Given the description of an element on the screen output the (x, y) to click on. 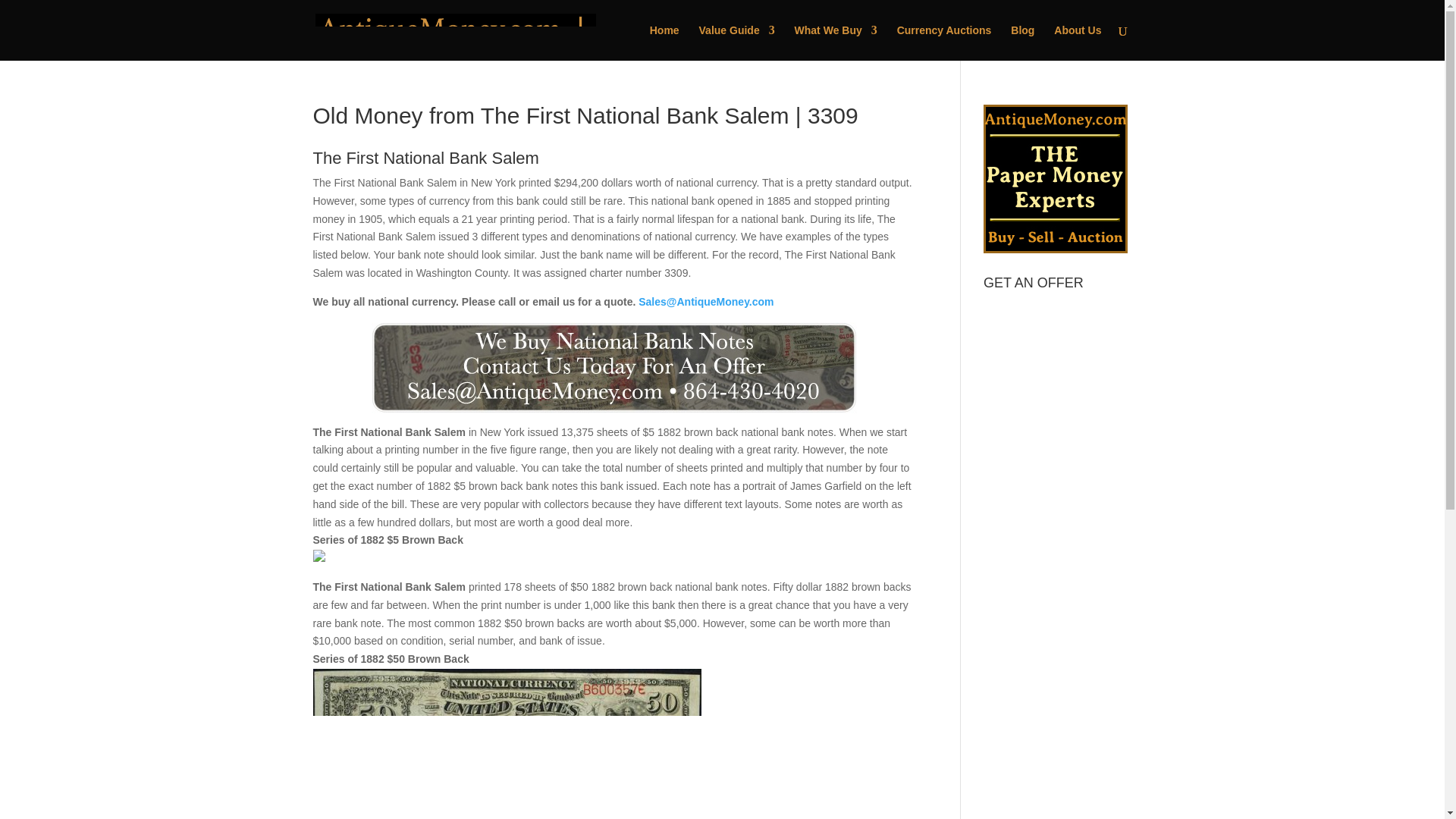
About Us (1077, 42)
Email, Call, or Text Us Today! (614, 367)
What We Buy (835, 42)
Value Guide (736, 42)
Currency Auctions (943, 42)
Contact Us For A Quick And Free Appraisal (614, 367)
